Given the description of an element on the screen output the (x, y) to click on. 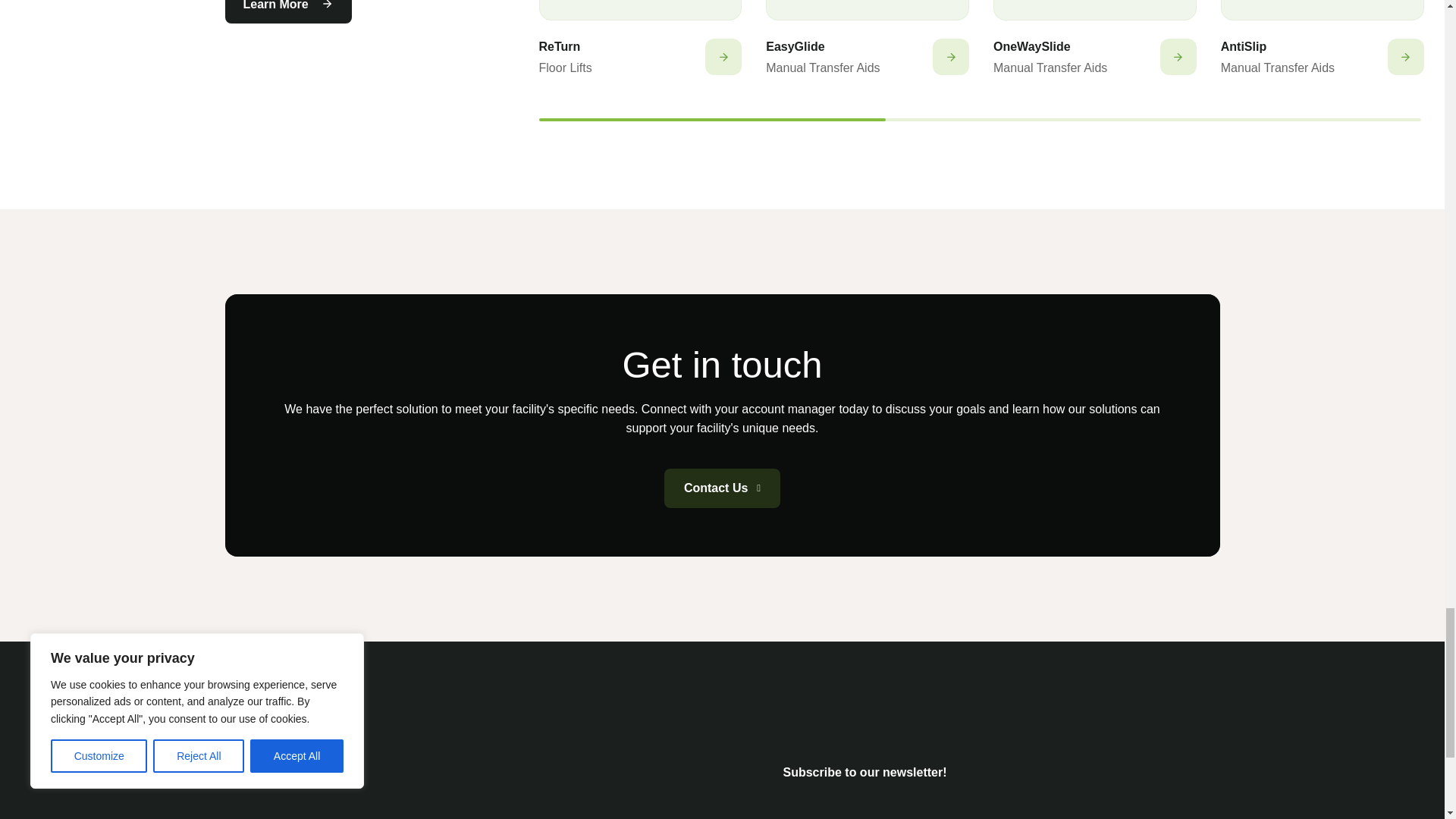
Savaria Logo (337, 790)
